Given the description of an element on the screen output the (x, y) to click on. 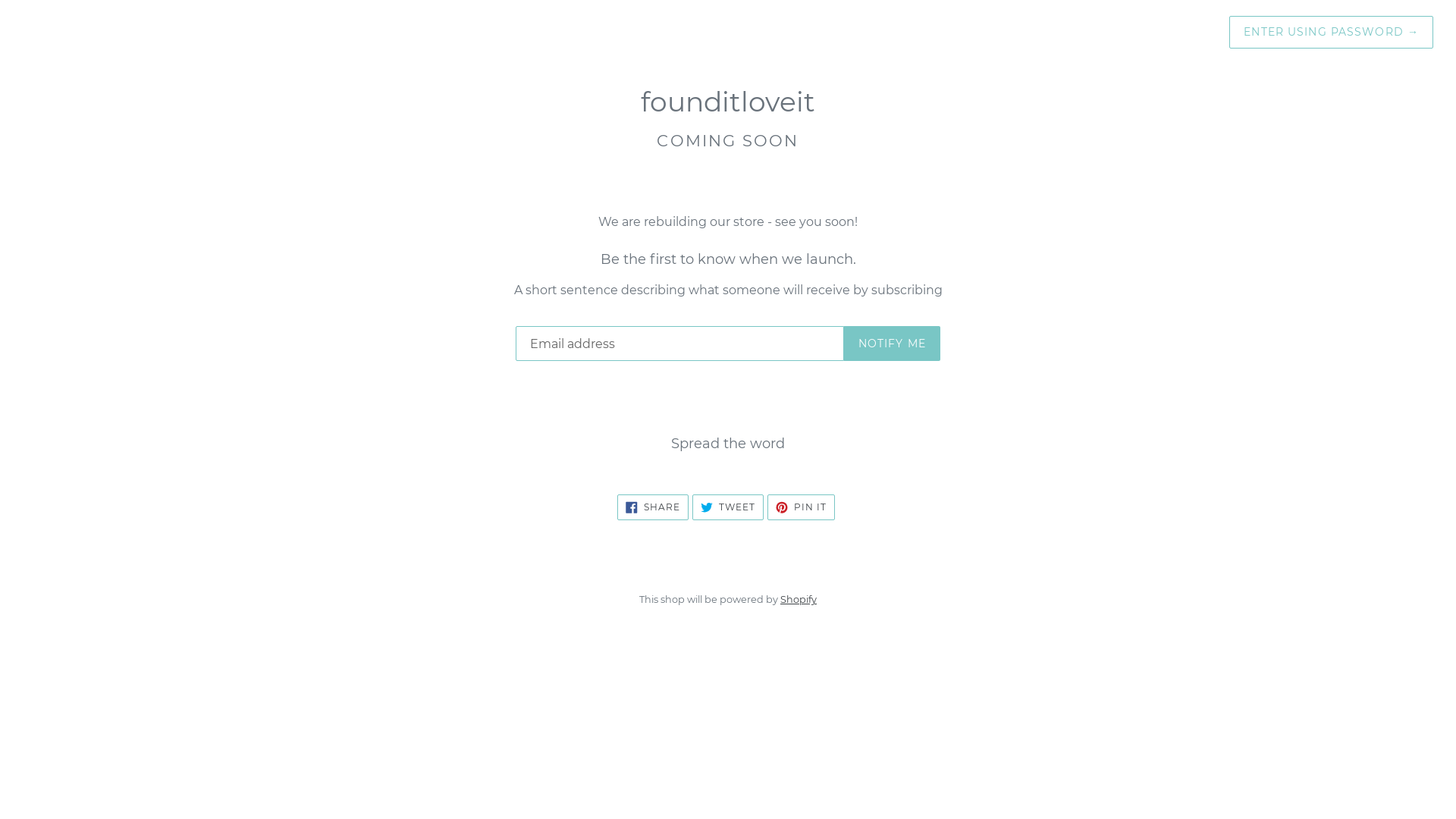
NOTIFY ME Element type: text (892, 343)
Shopify Element type: text (798, 599)
PIN IT
PIN ON PINTEREST Element type: text (800, 507)
TWEET
TWEET ON TWITTER Element type: text (727, 507)
SHARE
SHARE ON FACEBOOK Element type: text (652, 507)
